Given the description of an element on the screen output the (x, y) to click on. 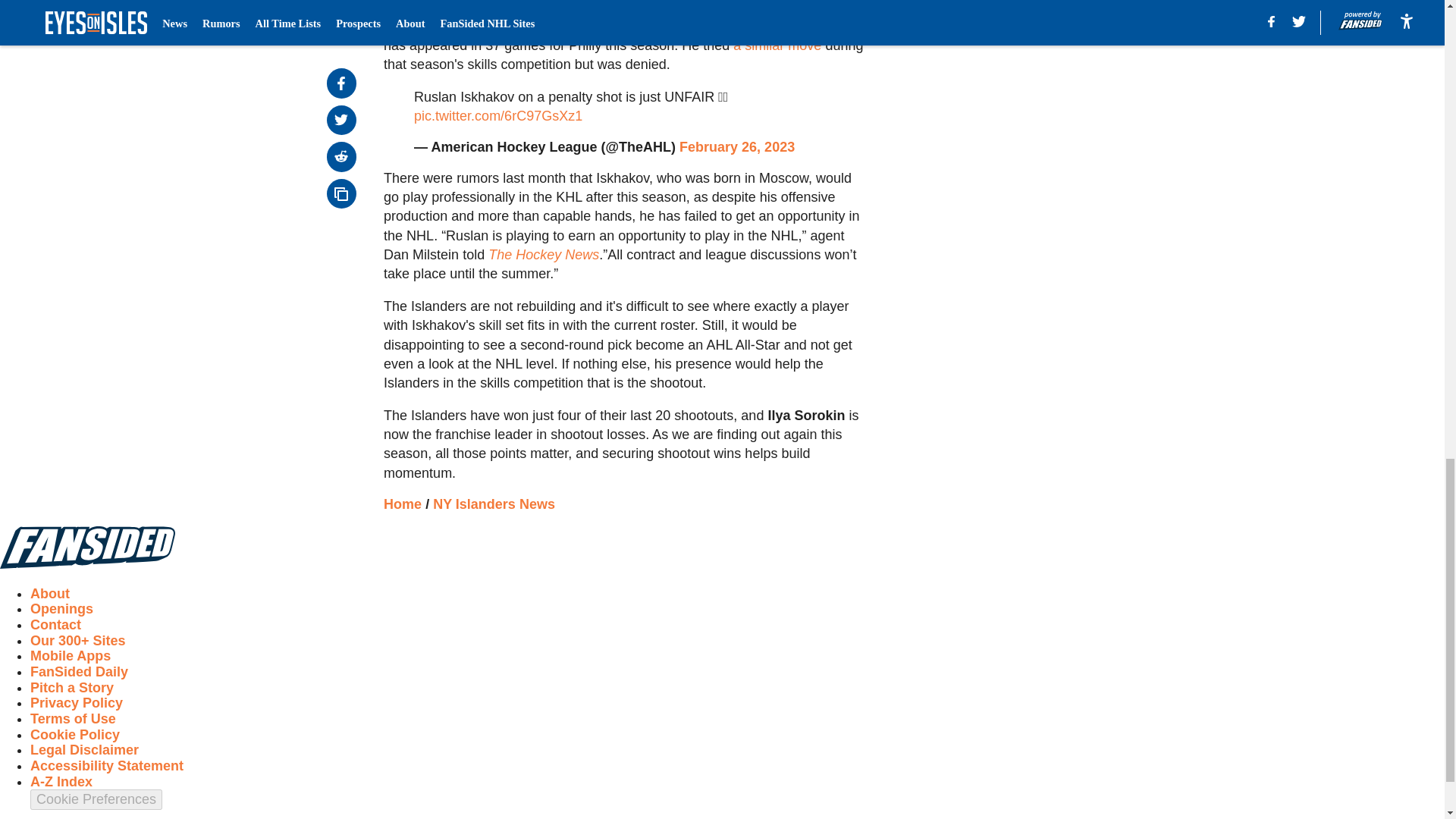
About (49, 593)
Openings (61, 608)
a similar move (777, 45)
Mobile Apps (70, 655)
February 26, 2023 (736, 146)
FanSided Daily (79, 671)
The Hockey News (542, 254)
Contact (55, 624)
Home (403, 503)
NY Islanders News (493, 503)
